Given the description of an element on the screen output the (x, y) to click on. 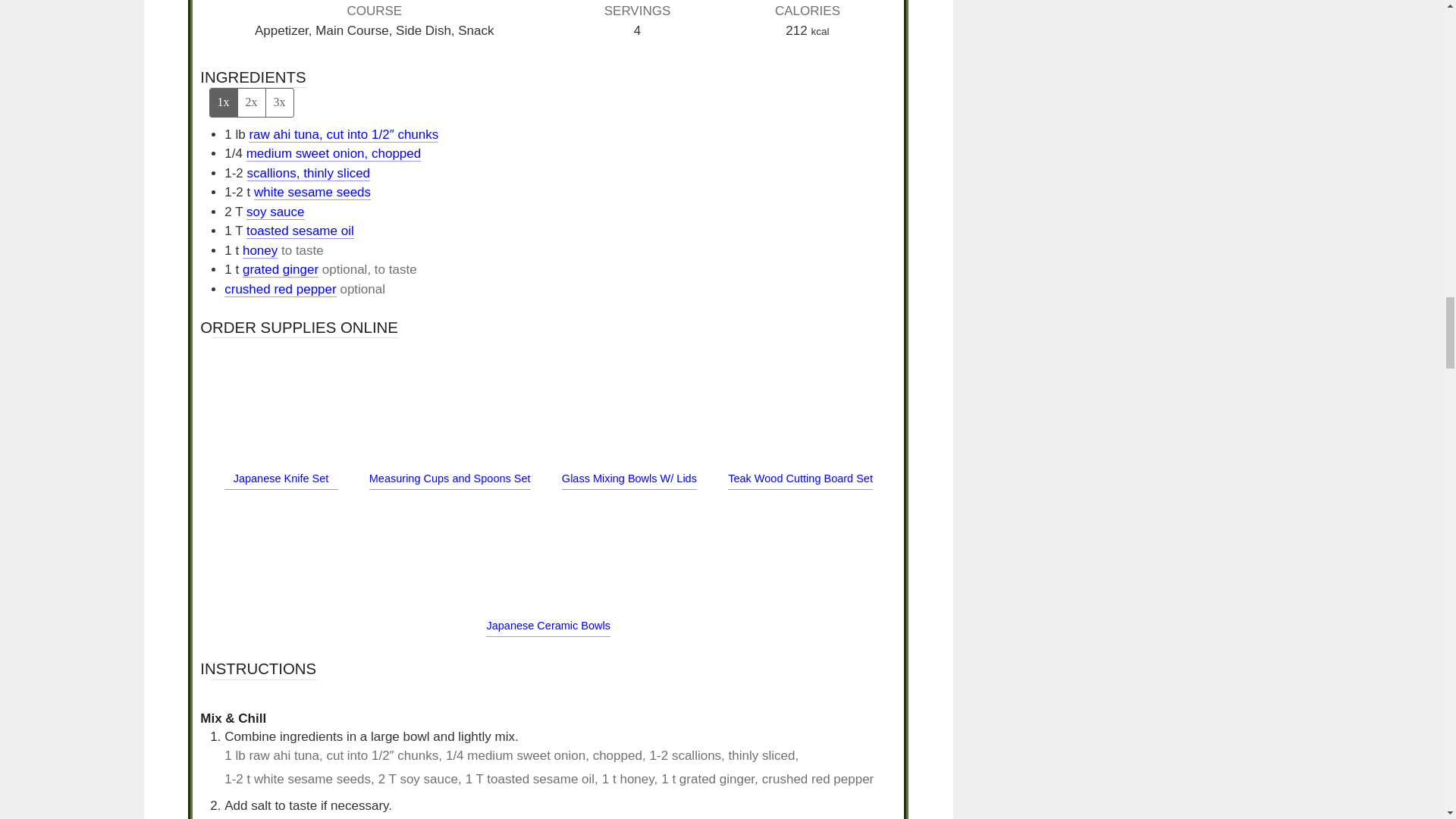
medium sweet onion, chopped (334, 153)
1x (223, 102)
toasted sesame oil (299, 231)
honey (260, 250)
crushed red pepper (280, 289)
2x (250, 102)
white sesame seeds (312, 192)
grated ginger (280, 269)
Japanese Knife Set (280, 478)
3x (279, 102)
